Given the description of an element on the screen output the (x, y) to click on. 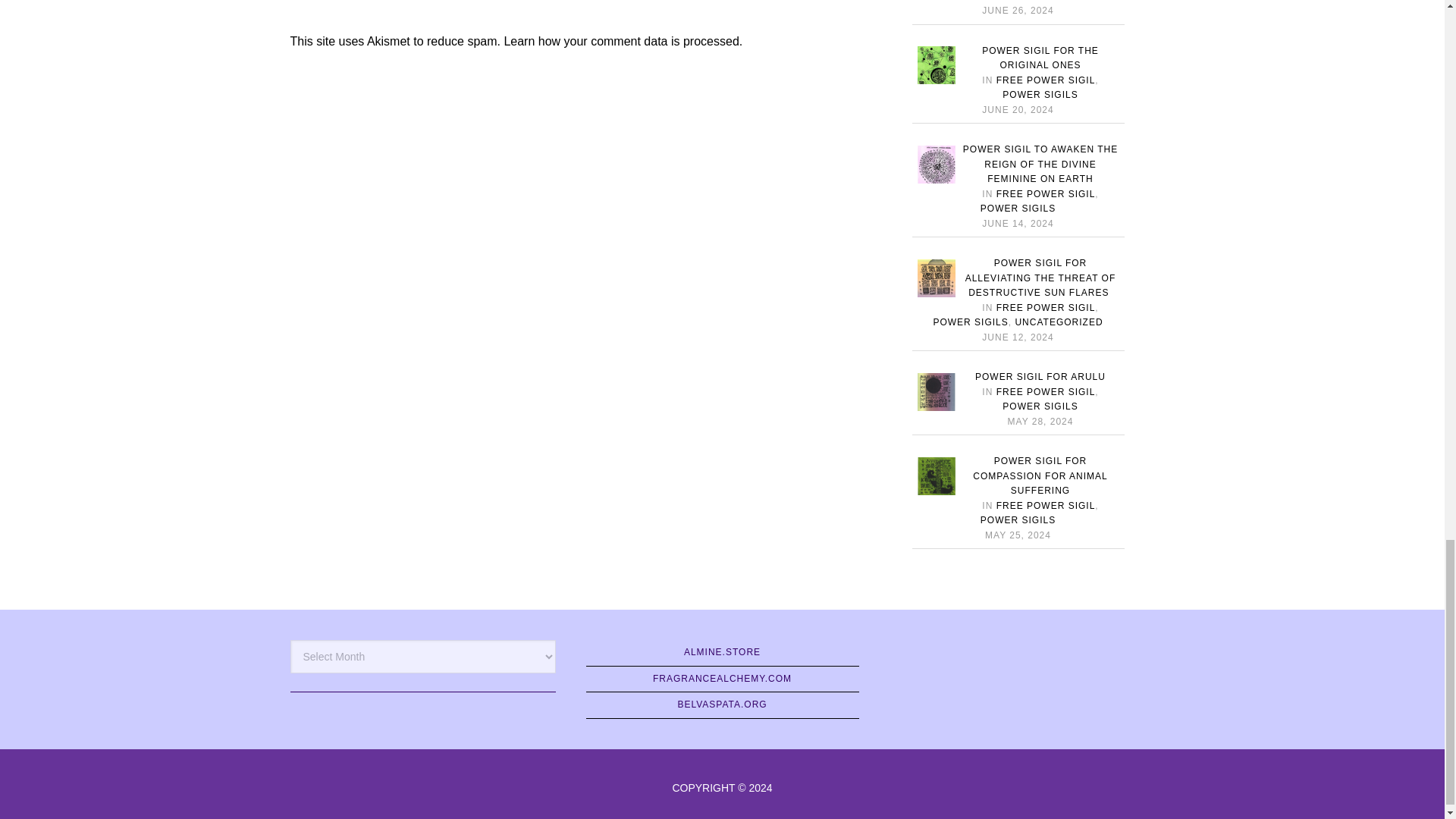
POWER SIGILS (1040, 0)
Learn how your comment data is processed (620, 41)
POWER SIGIL FOR THE ORIGINAL ONES (1040, 58)
POWER SIGILS (1040, 94)
FREE POWER SIGIL (1045, 80)
